Given the description of an element on the screen output the (x, y) to click on. 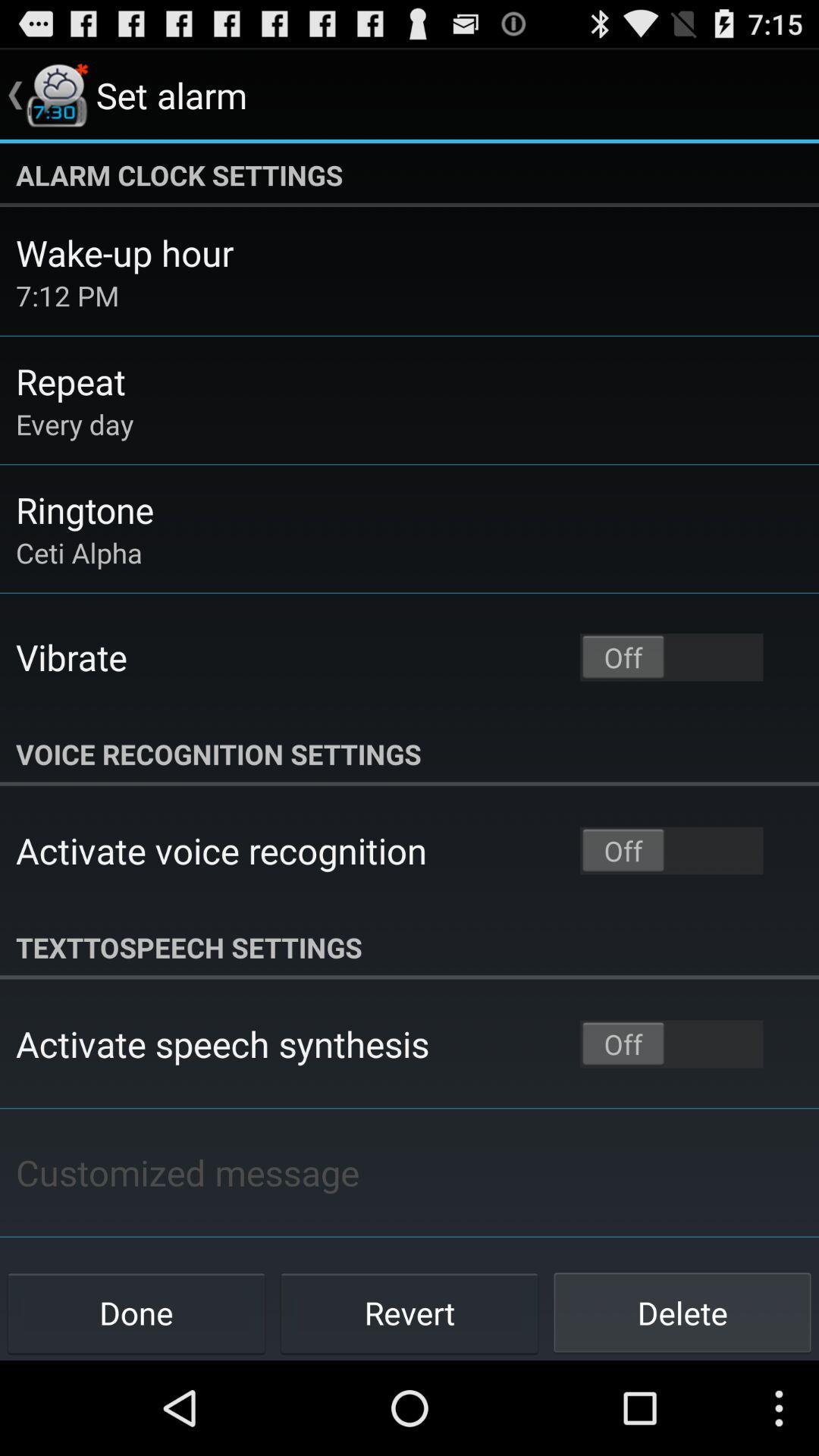
launch revert (409, 1312)
